Given the description of an element on the screen output the (x, y) to click on. 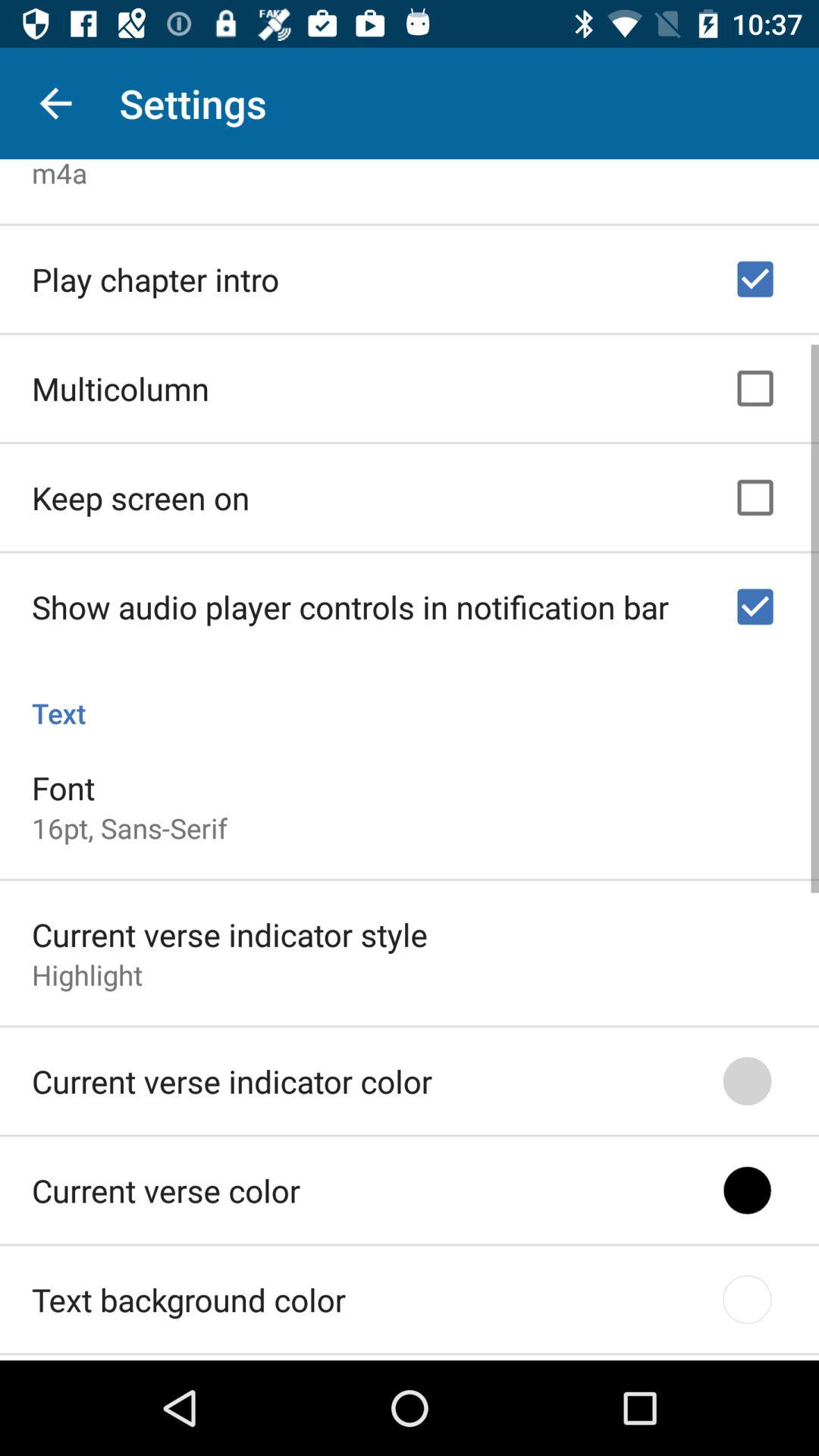
choose icon above the multicolumn item (155, 274)
